Given the description of an element on the screen output the (x, y) to click on. 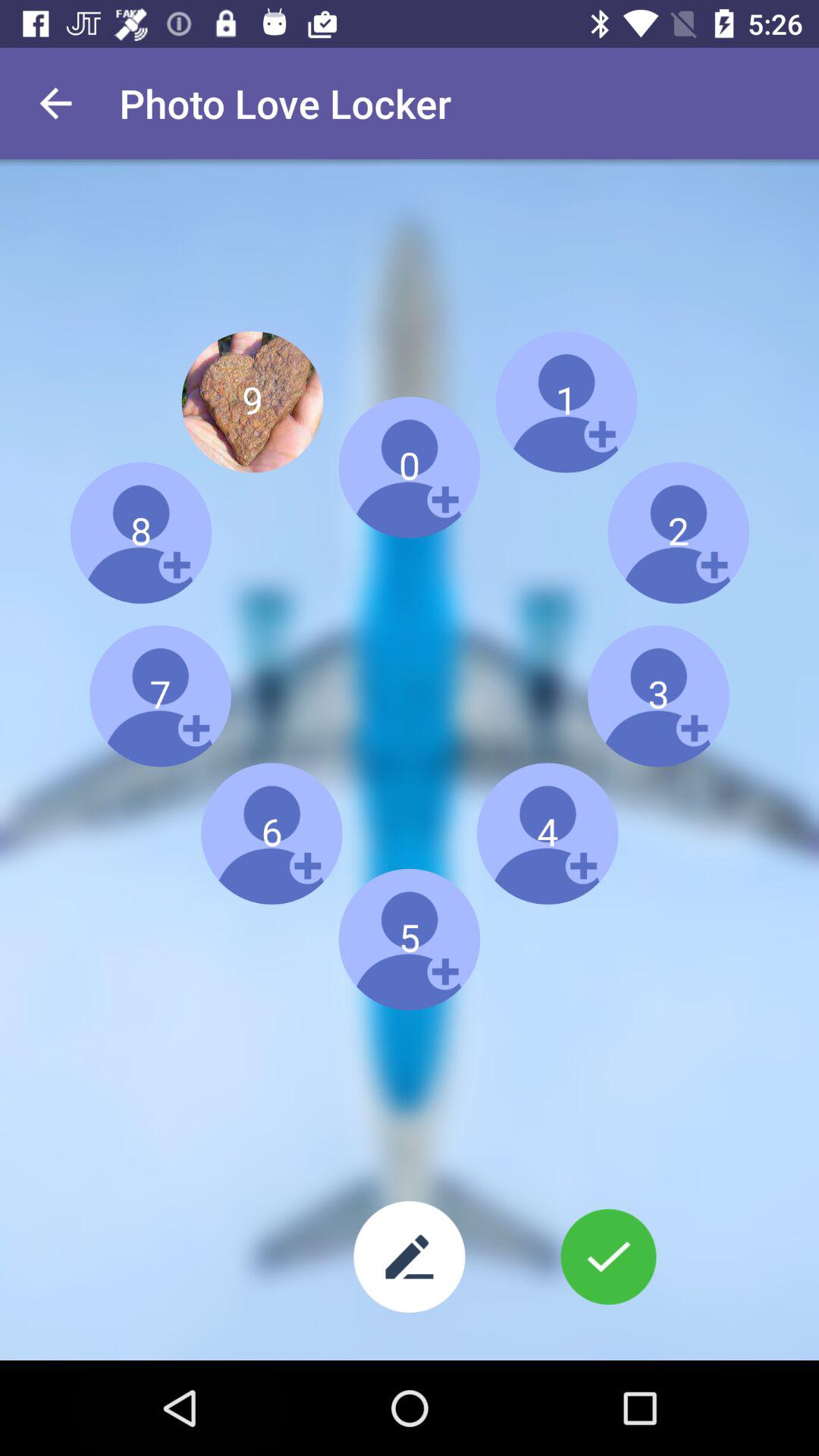
choose item at the top left corner (55, 103)
